Given the description of an element on the screen output the (x, y) to click on. 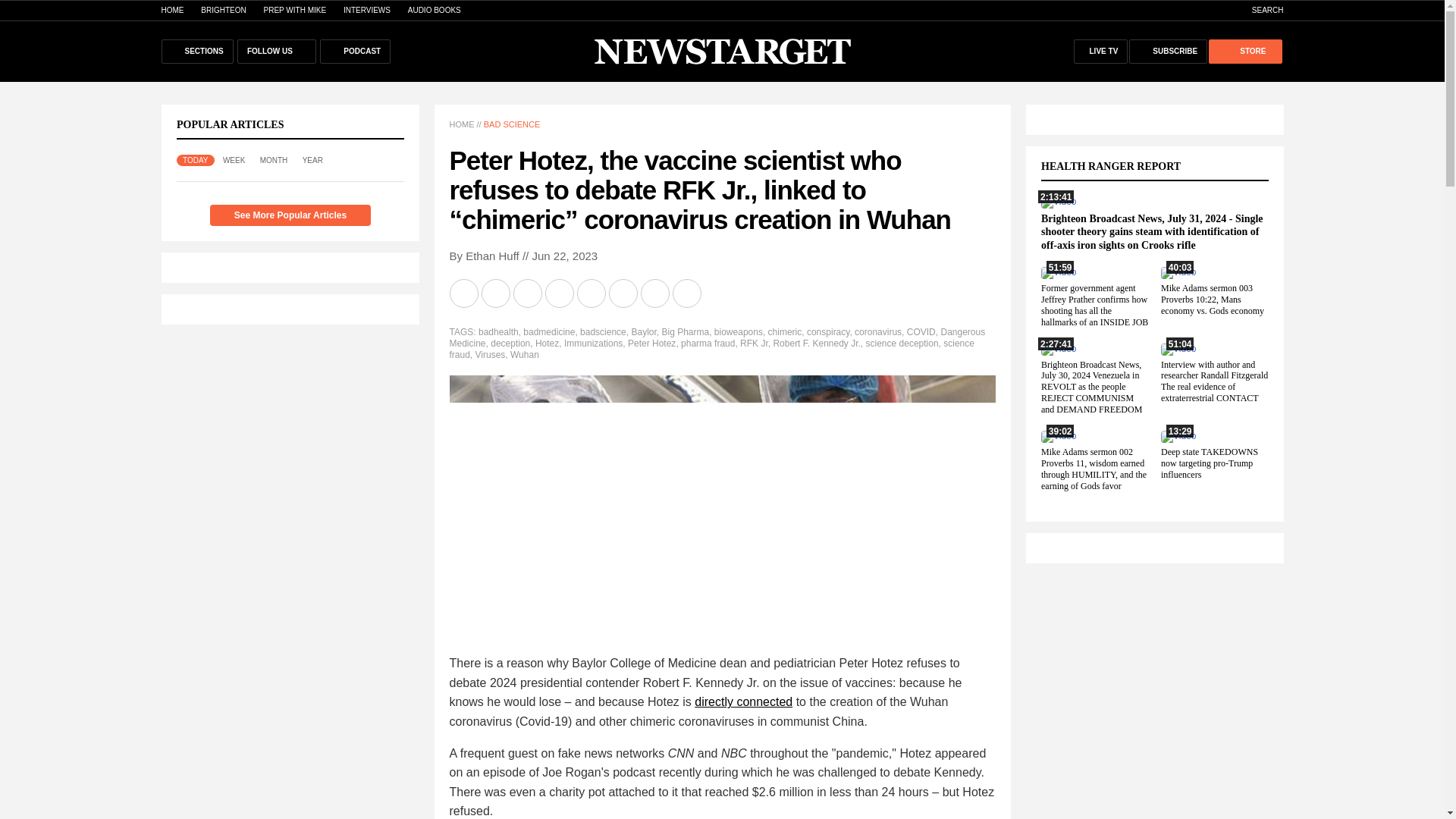
51:04 (1177, 348)
Share on Brighteon.Social (464, 293)
INTERVIEWS (366, 9)
Share on Facebook (496, 293)
By Ethan Huff (483, 255)
Share on Telegram (560, 293)
Deep state TAKEDOWNS now targeting pro-Trump influencers (1208, 462)
Share on GAB (592, 293)
HOME (171, 9)
51:59 (1058, 271)
AUDIO BOOKS (434, 9)
badhealth (498, 331)
PODCAST (355, 51)
STORE (1244, 51)
